Given the description of an element on the screen output the (x, y) to click on. 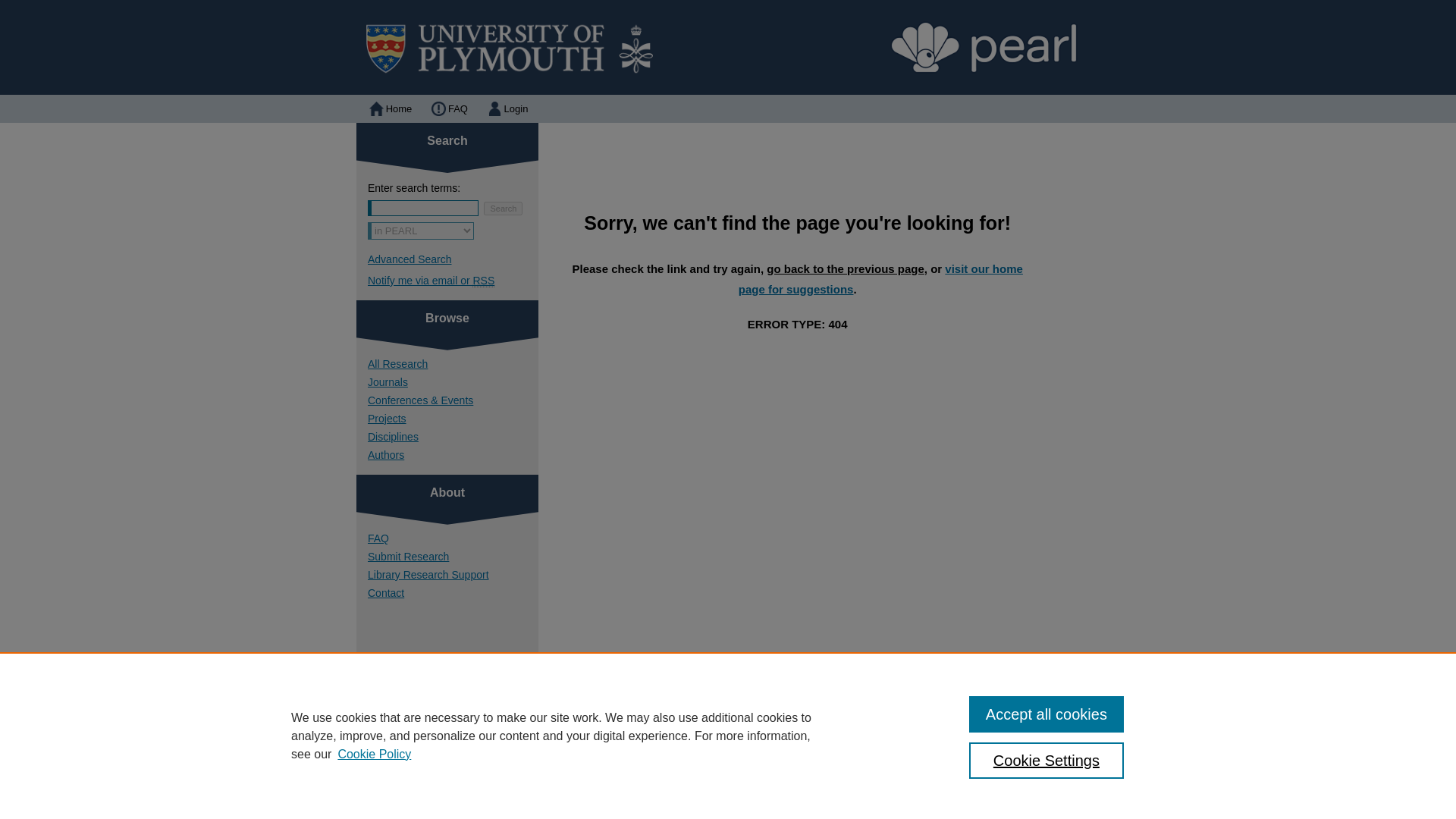
Projects (453, 418)
All Research (453, 363)
Disciplines (453, 436)
FAQ (453, 538)
FAQ (618, 779)
Login (507, 108)
Accept all cookies (1046, 714)
Home (389, 108)
Search (502, 208)
go back to the previous page (845, 268)
Authors (453, 454)
Browse by Disciplines (453, 436)
FAQ (448, 108)
Browse Journals (453, 381)
Accessibility Statement (771, 779)
